Given the description of an element on the screen output the (x, y) to click on. 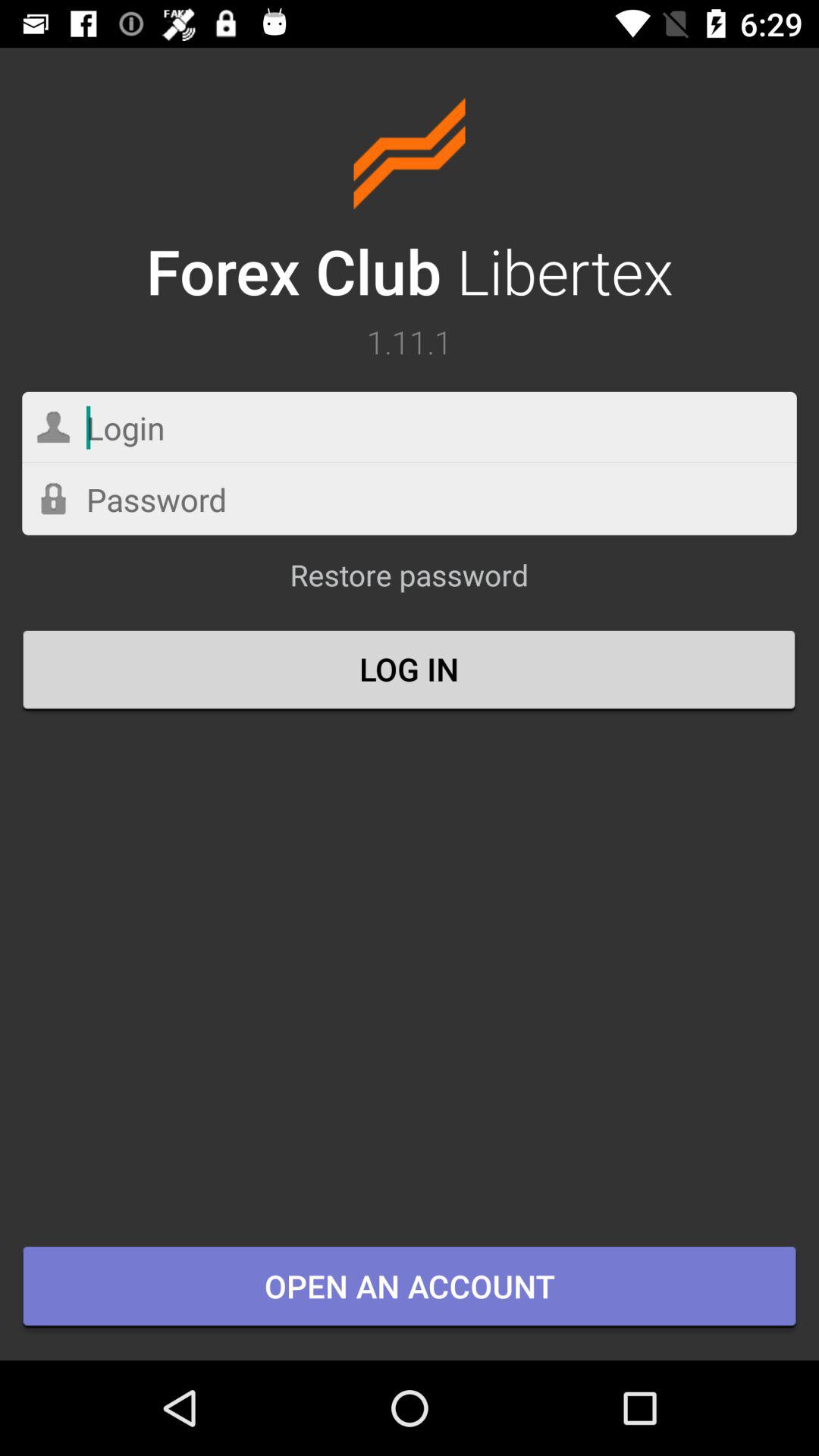
turn off the icon below the 1.11.1 icon (409, 427)
